Given the description of an element on the screen output the (x, y) to click on. 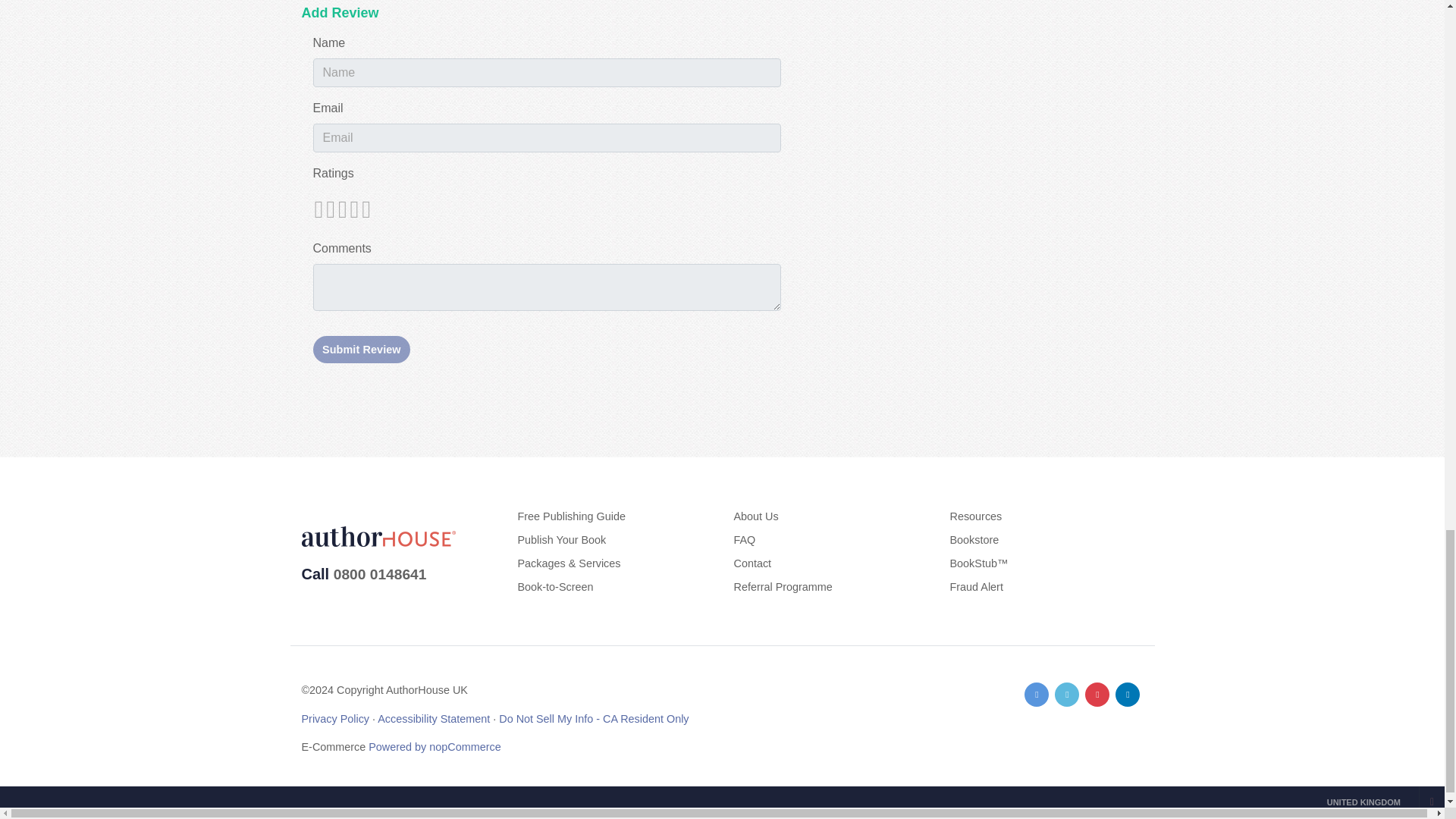
Contact (752, 563)
Free Publishing Guide (570, 516)
Do Not Sell My Info - CA Resident Only (593, 718)
Not Rated (342, 208)
Submit Review (361, 349)
Publish Your Book (560, 539)
FAQ (744, 539)
Book-to-Screen (554, 586)
Submit Review (361, 349)
About Us (755, 516)
0800 0148641 (379, 574)
